Given the description of an element on the screen output the (x, y) to click on. 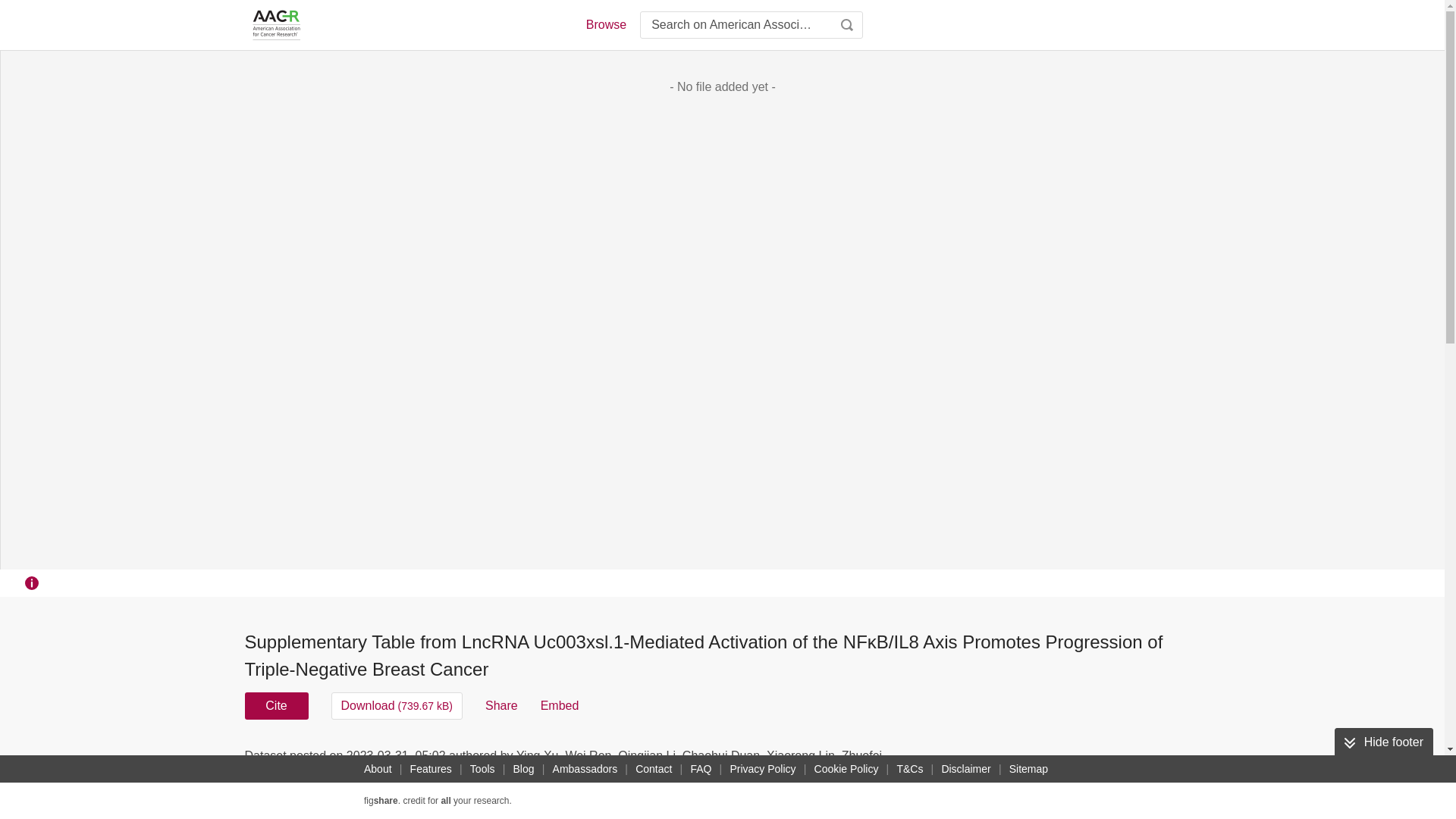
Share (501, 705)
Cookie Policy (846, 769)
USAGE METRICS (976, 759)
Cite (275, 705)
Ambassadors (585, 769)
Disclaimer (965, 769)
Hide footer (1383, 742)
Tools (482, 769)
Browse (605, 24)
Sitemap (1028, 769)
